Given the description of an element on the screen output the (x, y) to click on. 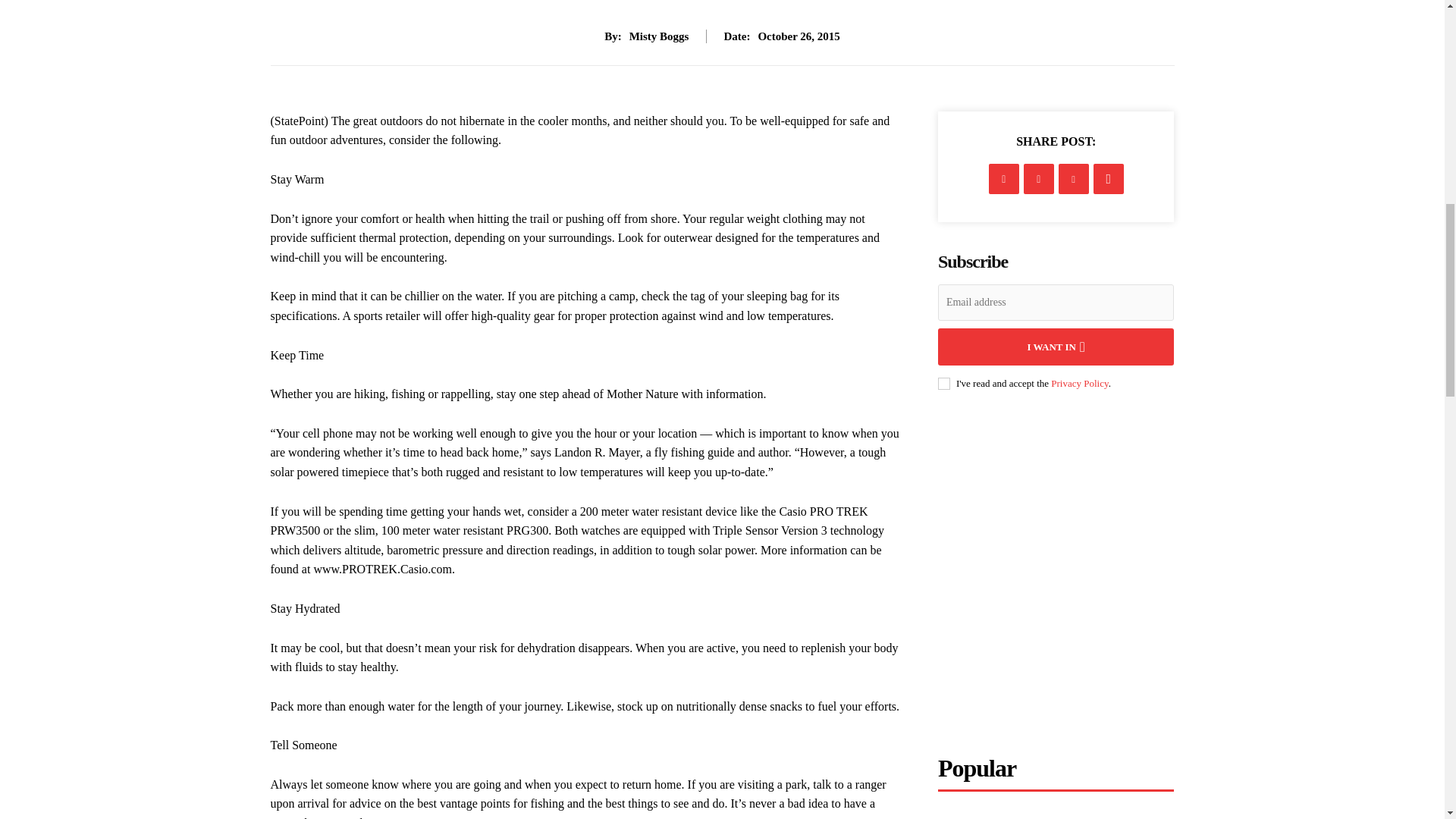
Pinterest (1073, 178)
Family Day at Texas Forestry Museum (1055, 814)
WhatsApp (1108, 178)
Facebook (1003, 178)
Twitter (1038, 178)
